Given the description of an element on the screen output the (x, y) to click on. 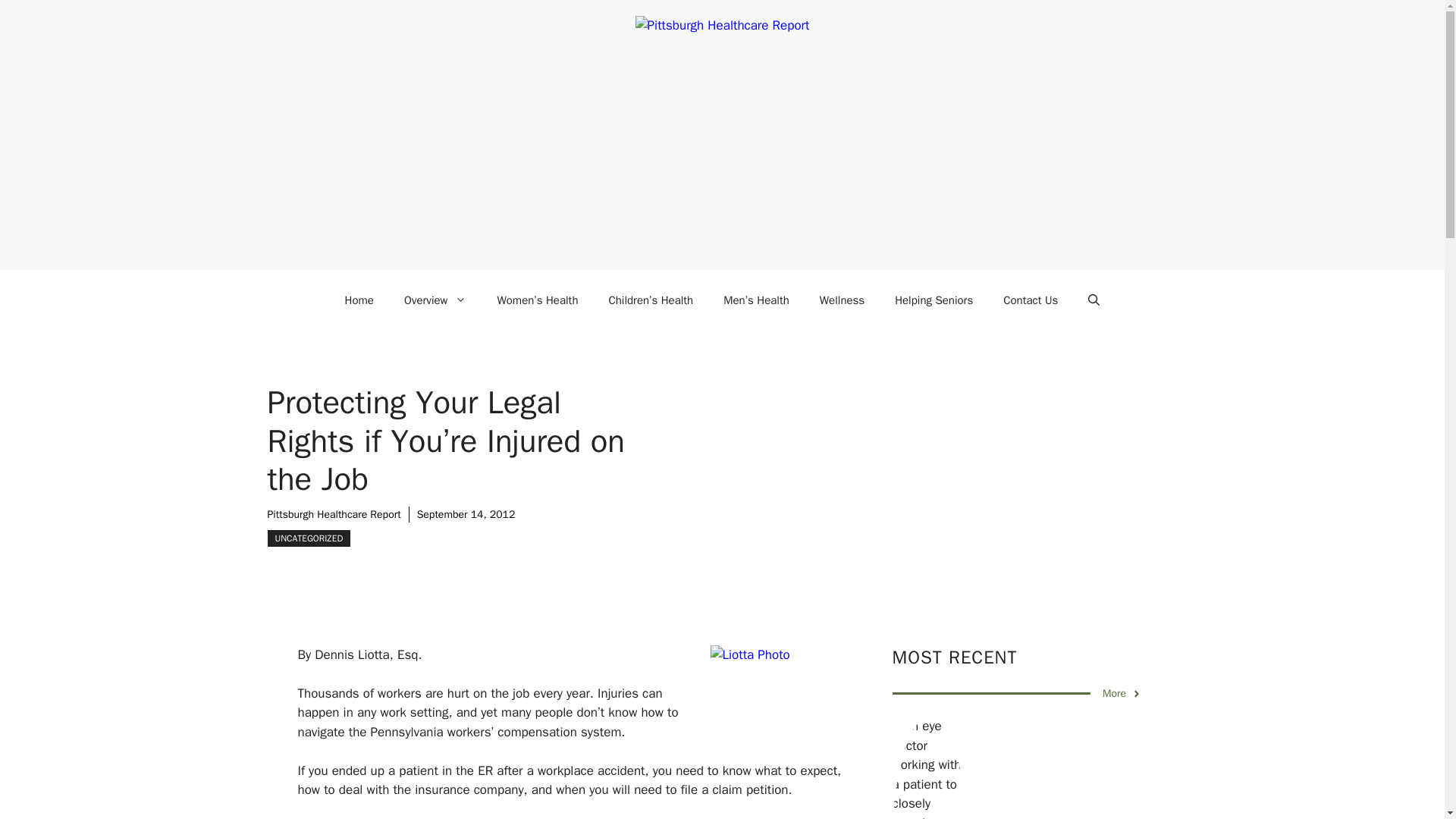
Wellness (842, 299)
Overview (434, 299)
Contact Us (1030, 299)
Home (359, 299)
Pittsburgh Healthcare Report (333, 513)
More (1121, 693)
Liotta-Photo (785, 695)
Helping Seniors (933, 299)
UNCATEGORIZED (308, 538)
